Given the description of an element on the screen output the (x, y) to click on. 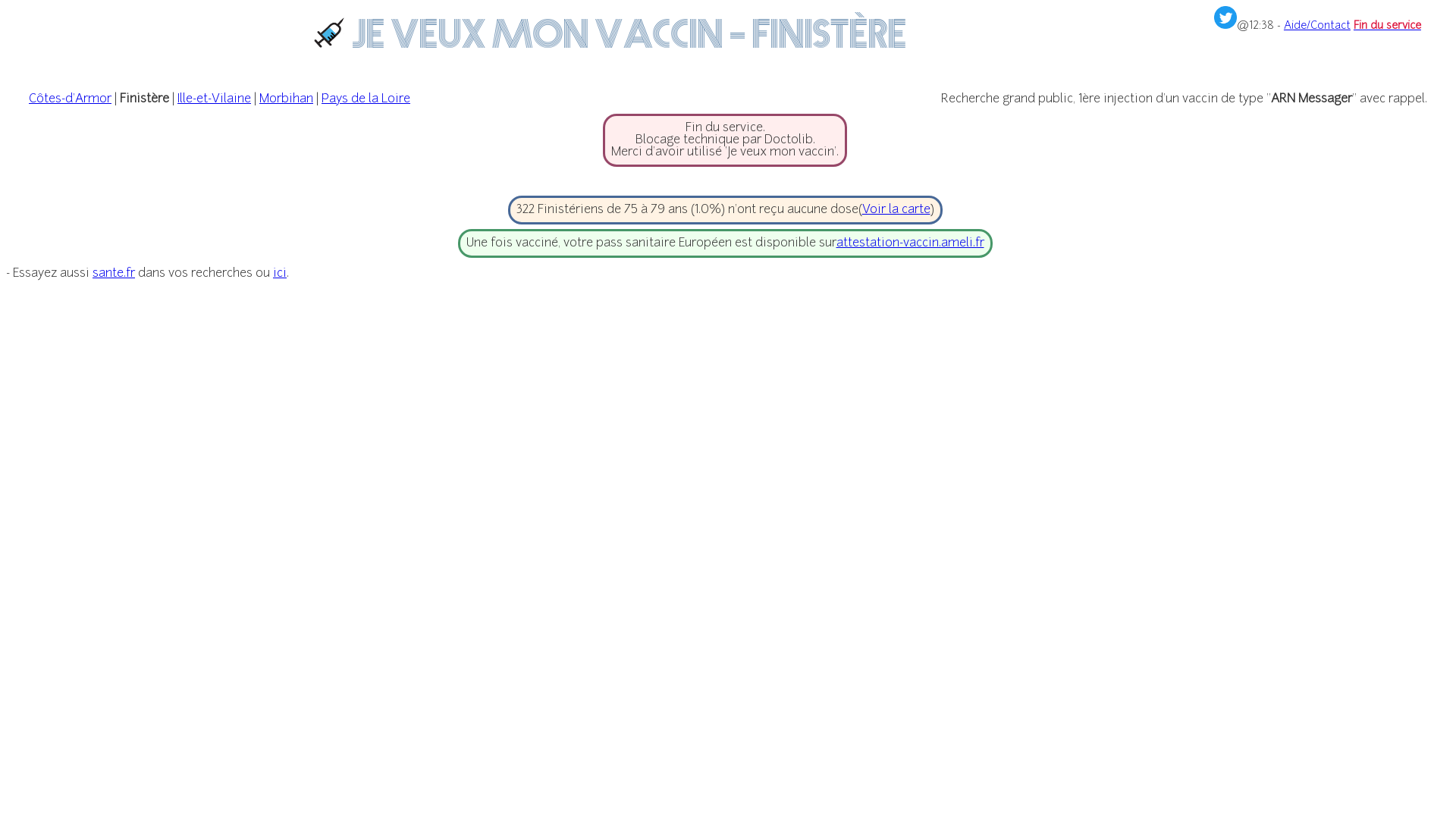
Fin du service Element type: text (1387, 25)
attestation-vaccin.ameli.fr Element type: text (909, 243)
Aide/Contact Element type: text (1316, 25)
ici Element type: text (279, 273)
Ille-et-Vilaine Element type: text (214, 99)
Morbihan Element type: text (286, 99)
sante.fr Element type: text (113, 273)
Pays de la Loire Element type: text (365, 99)
Voir la carte Element type: text (895, 209)
